Given the description of an element on the screen output the (x, y) to click on. 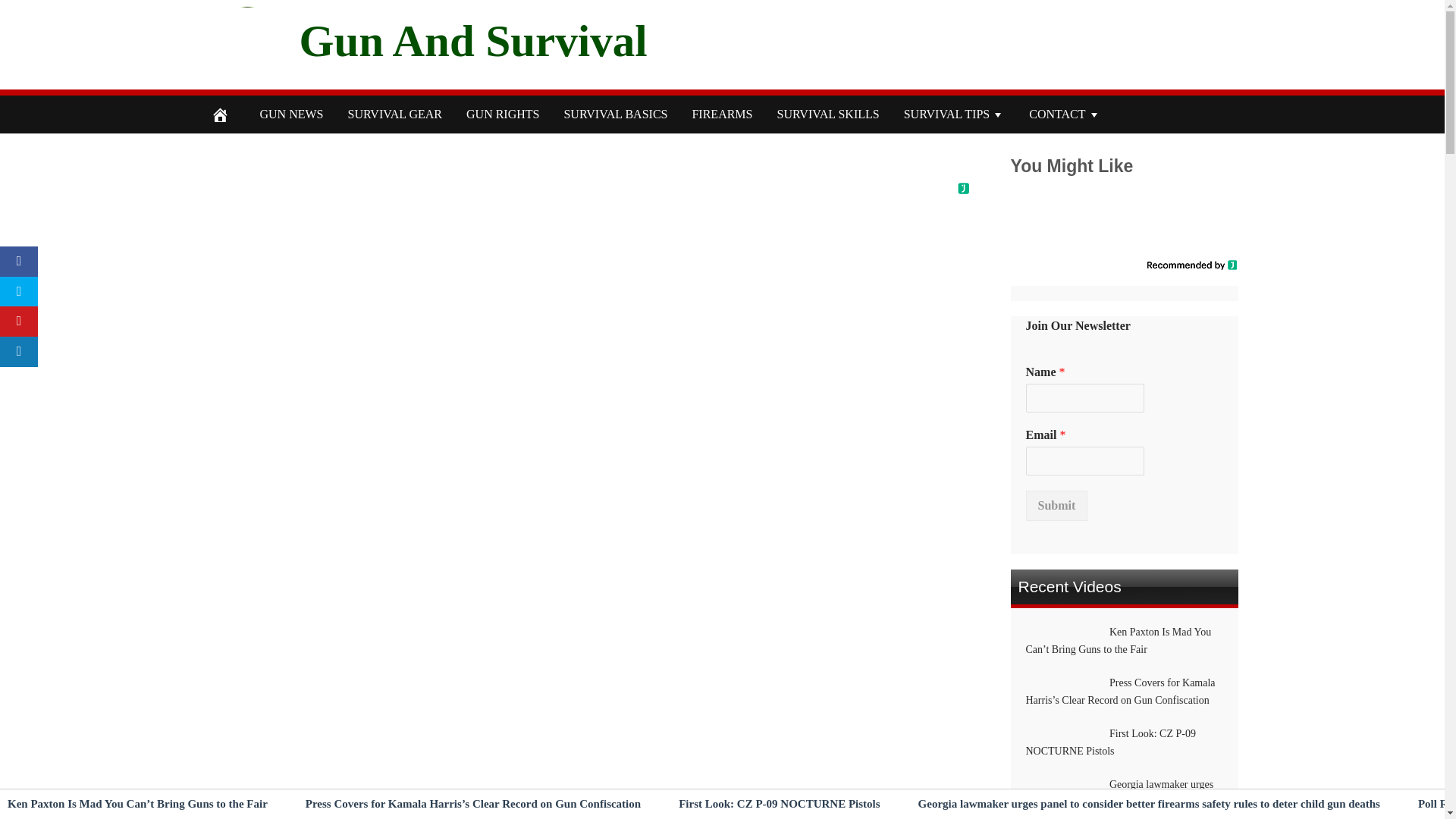
GUN RIGHTS (502, 114)
SURVIVAL BASICS (615, 114)
FIREARMS (721, 114)
Gun And Survival (472, 40)
SURVIVAL GEAR (394, 114)
GUN NEWS (290, 114)
First Look: CZ P-09 NOCTURNE Pistols (778, 803)
